Given the description of an element on the screen output the (x, y) to click on. 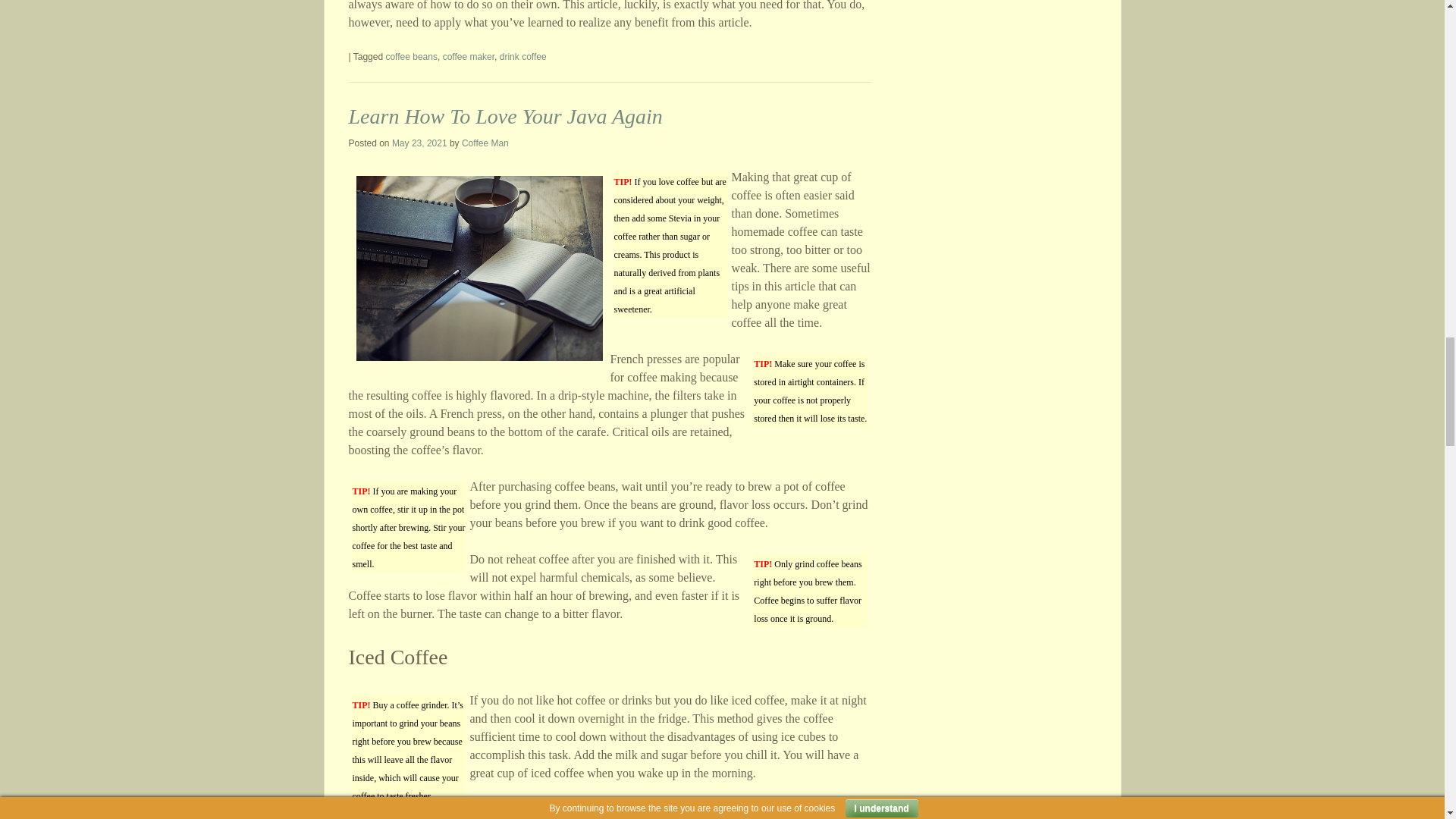
4:29 am (418, 143)
View all posts by Coffee Man (484, 143)
Permalink (505, 115)
